Given the description of an element on the screen output the (x, y) to click on. 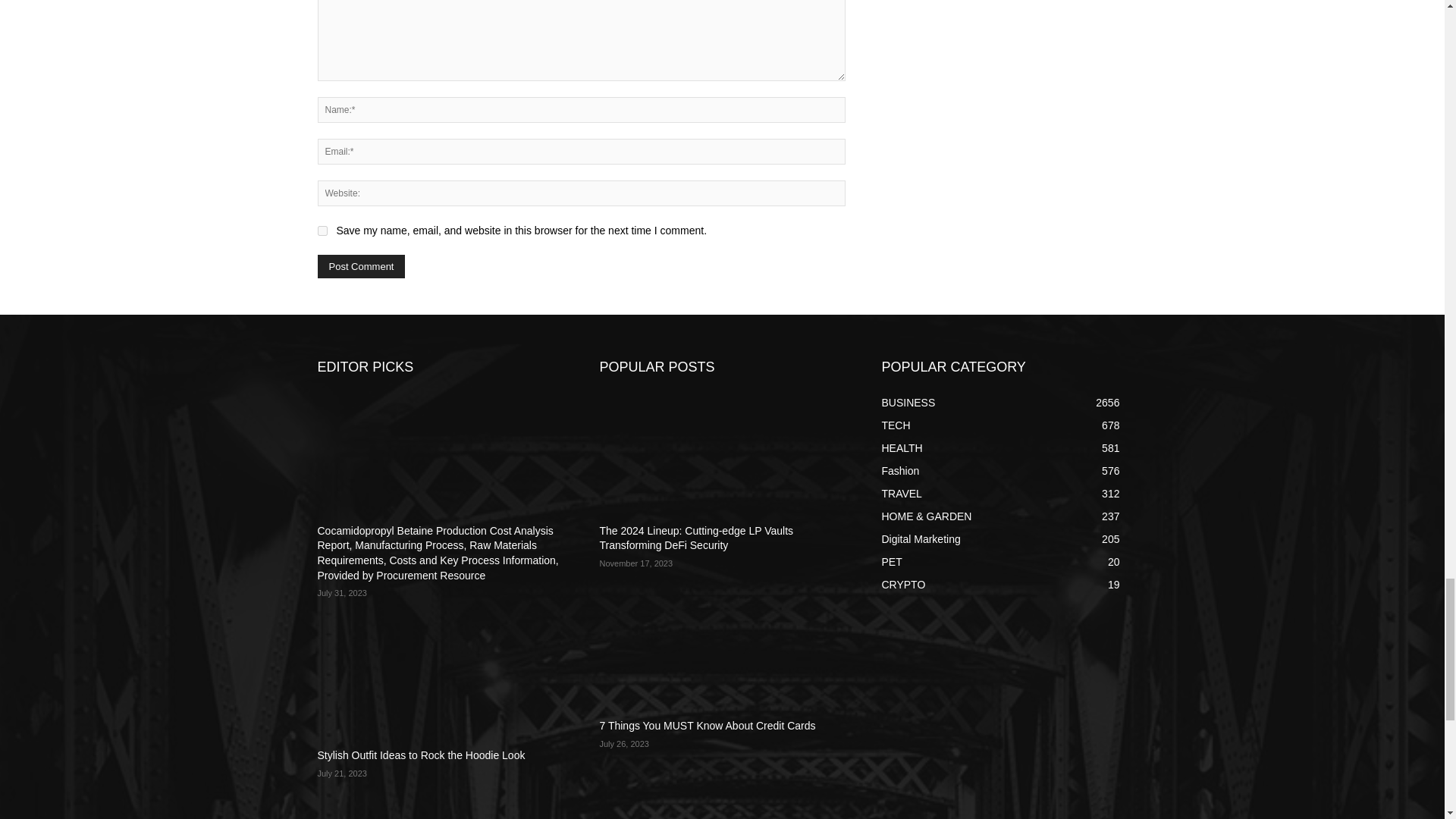
yes (321, 230)
Post Comment (360, 266)
